Given the description of an element on the screen output the (x, y) to click on. 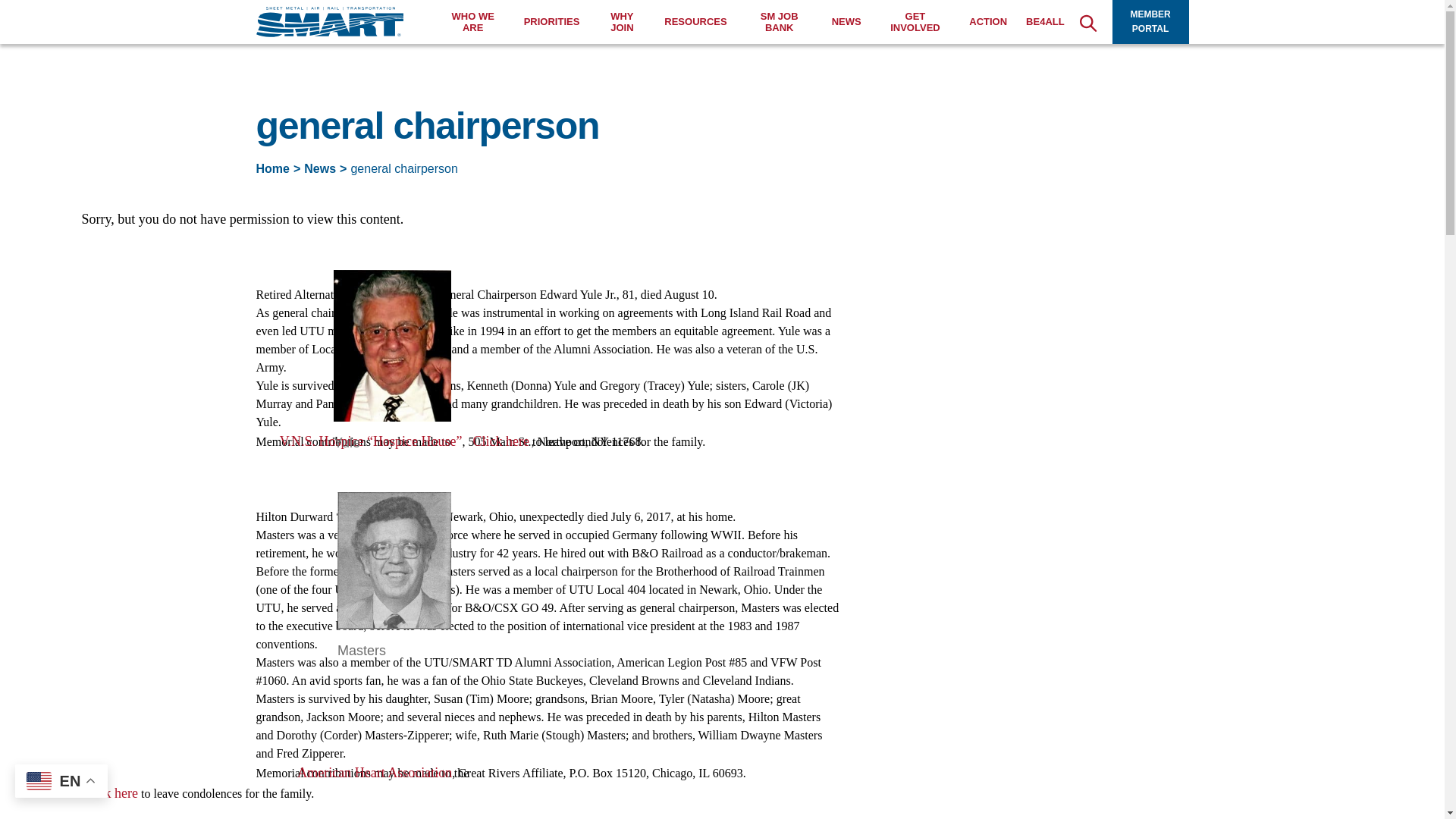
Go to SMART Union. (272, 168)
WHY JOIN (621, 22)
WHO WE ARE (473, 22)
PRIORITIES (551, 21)
Go to News. (320, 168)
